Given the description of an element on the screen output the (x, y) to click on. 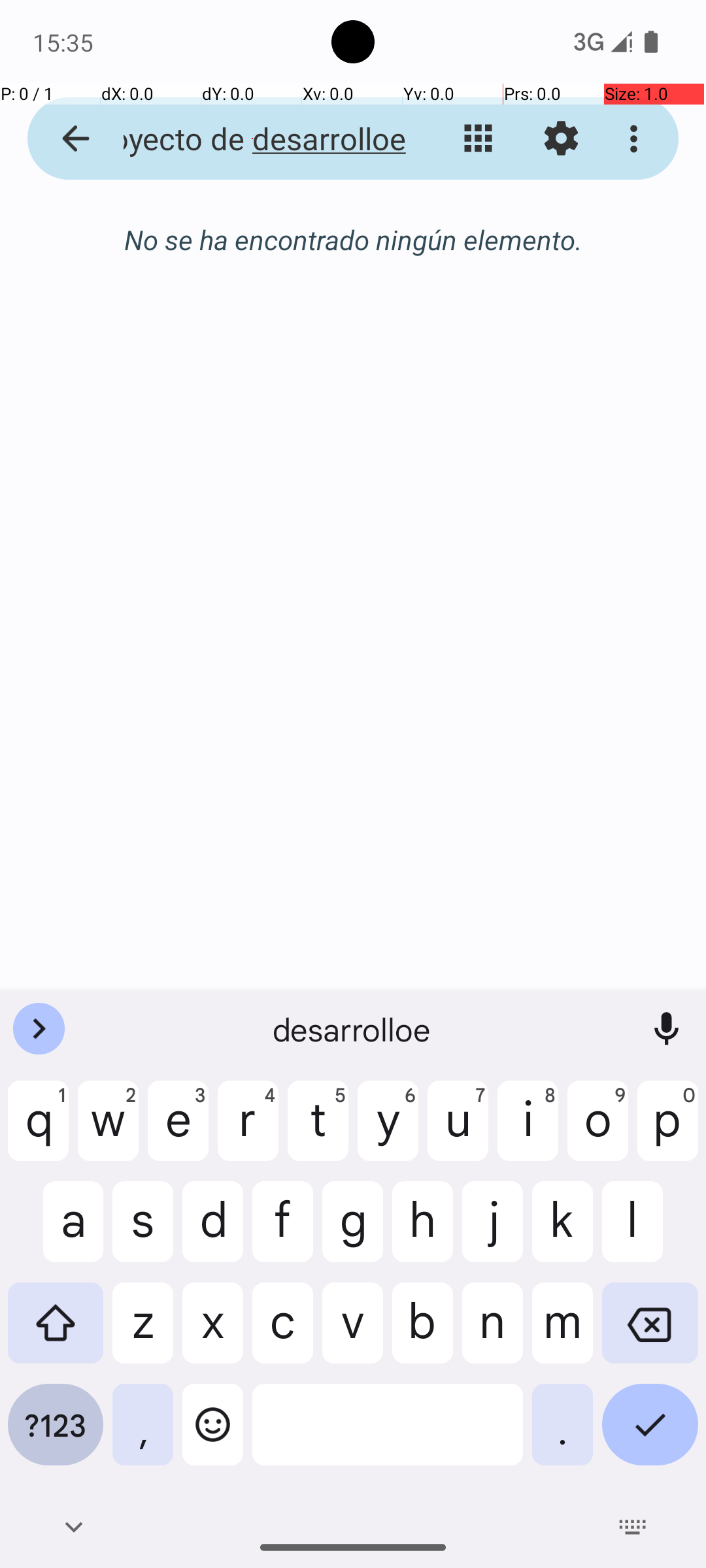
reunion dproyecto de desarrolloe equipo Element type: android.widget.EditText (252, 138)
No se ha encontrado ningún elemento. Element type: android.widget.TextView (353, 239)
desarrolloe Element type: android.widget.FrameLayout (352, 1028)
